Given the description of an element on the screen output the (x, y) to click on. 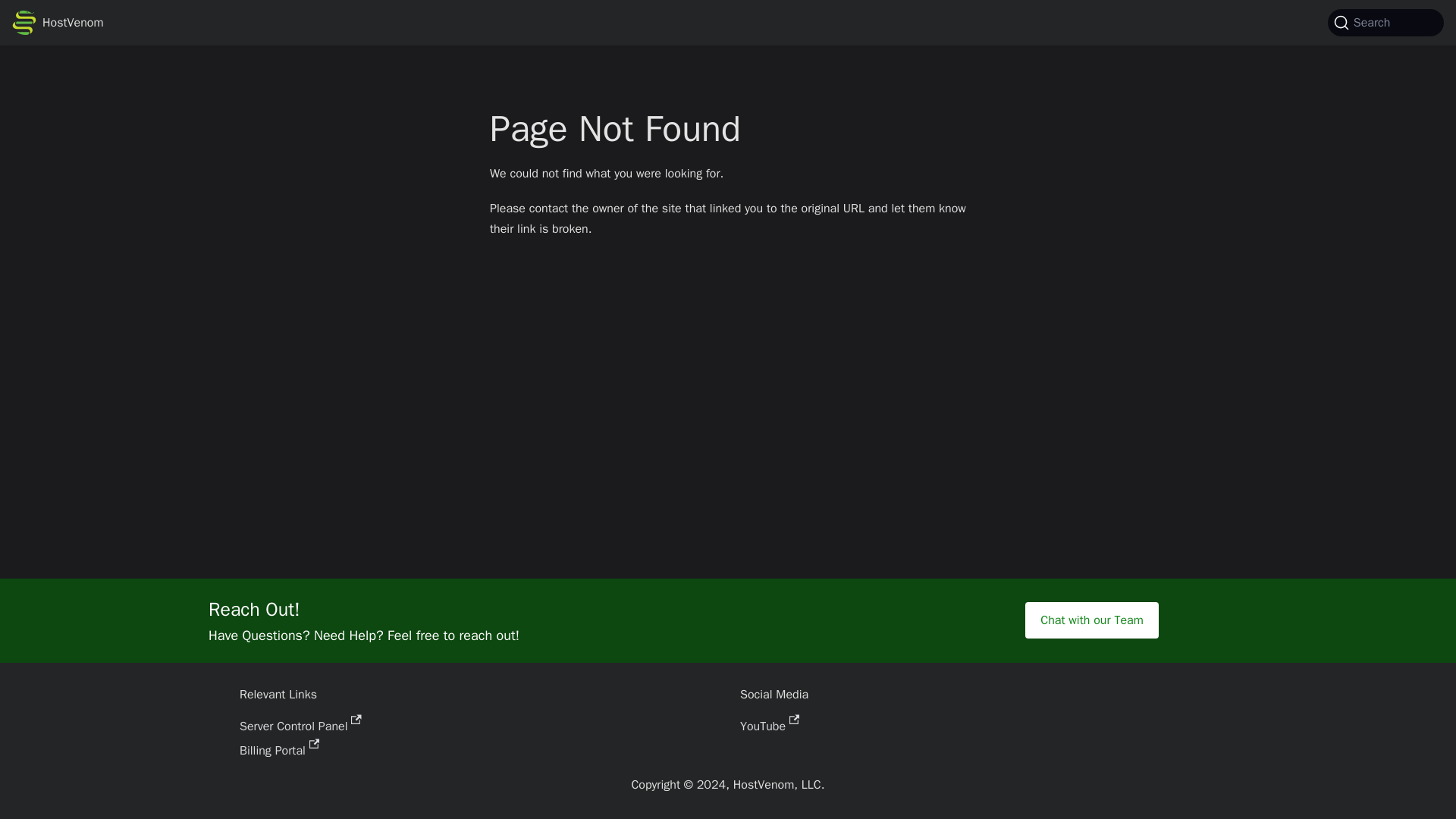
Server Control Panel (300, 726)
YouTube (769, 726)
Billing Portal (279, 750)
Search (1385, 22)
HostVenom (57, 22)
Chat with our Team (1091, 619)
